Given the description of an element on the screen output the (x, y) to click on. 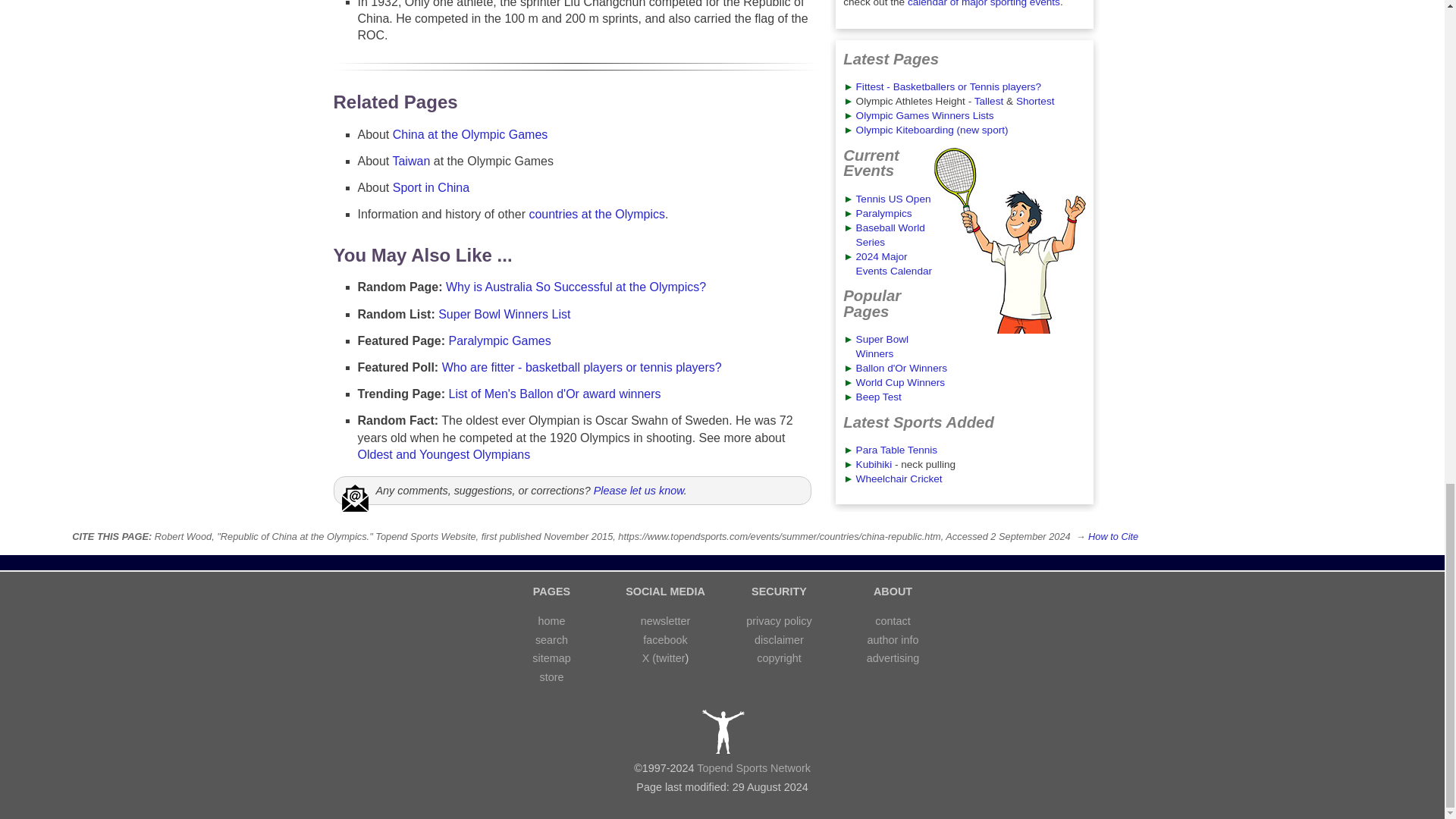
Taiwan (410, 160)
Sport in China (430, 187)
Oldest and Youngest Olympians (444, 454)
List of Men's Ballon d'Or award winners (554, 393)
Who are fitter - basketball players or tennis players? (582, 367)
Please let us know (639, 490)
China at the Olympic Games (470, 133)
Why is Australia So Successful at the Olympics? (575, 286)
Super Bowl Winners List (504, 314)
countries at the Olympics (596, 214)
